Given the description of an element on the screen output the (x, y) to click on. 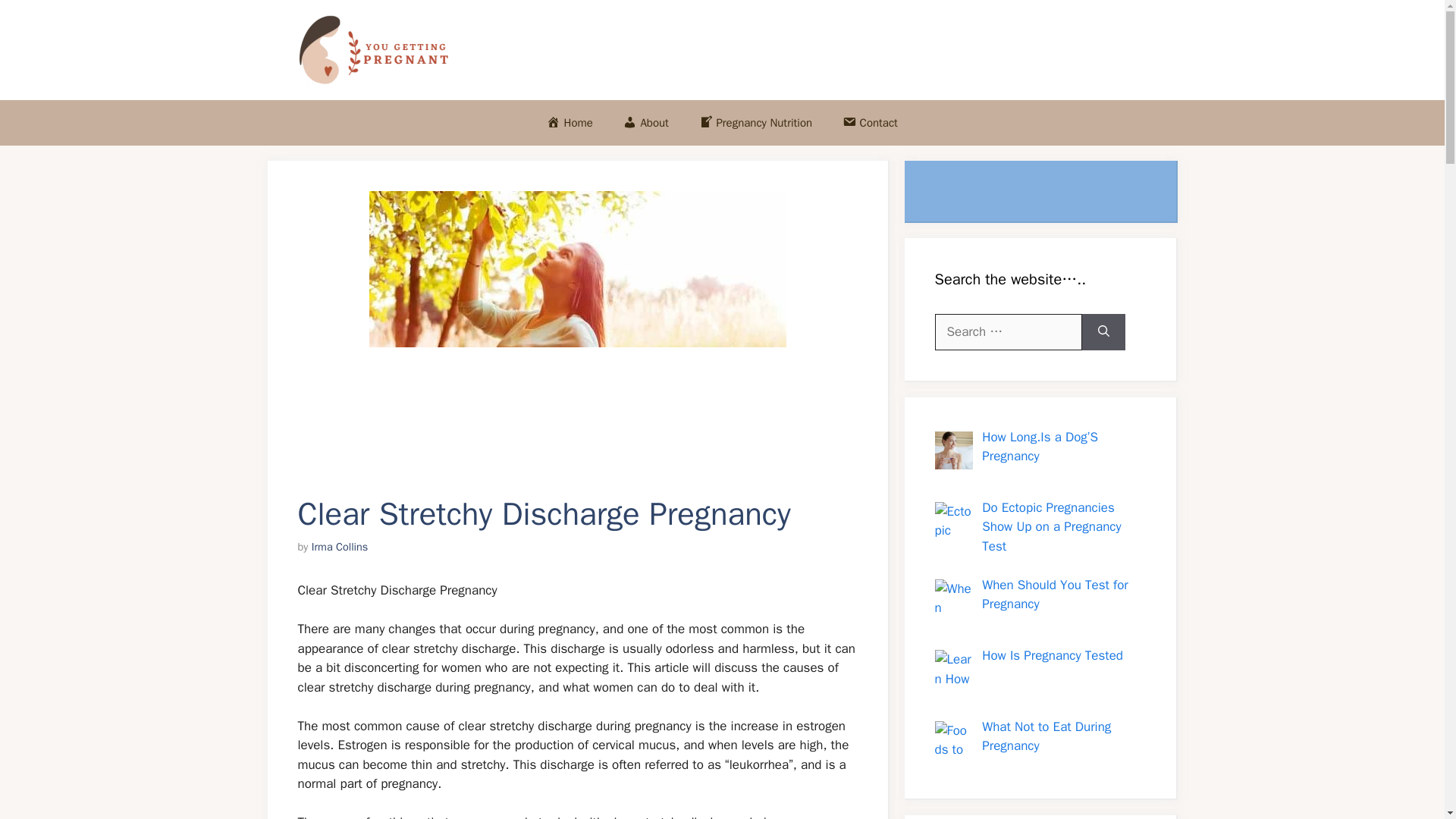
Irma Collins (339, 546)
Contact (869, 122)
About (646, 122)
Home (569, 122)
Pregnancy Nutrition (755, 122)
Clear Stretchy Discharge Pregnancy (577, 329)
View all posts by Irma Collins (339, 546)
